Given the description of an element on the screen output the (x, y) to click on. 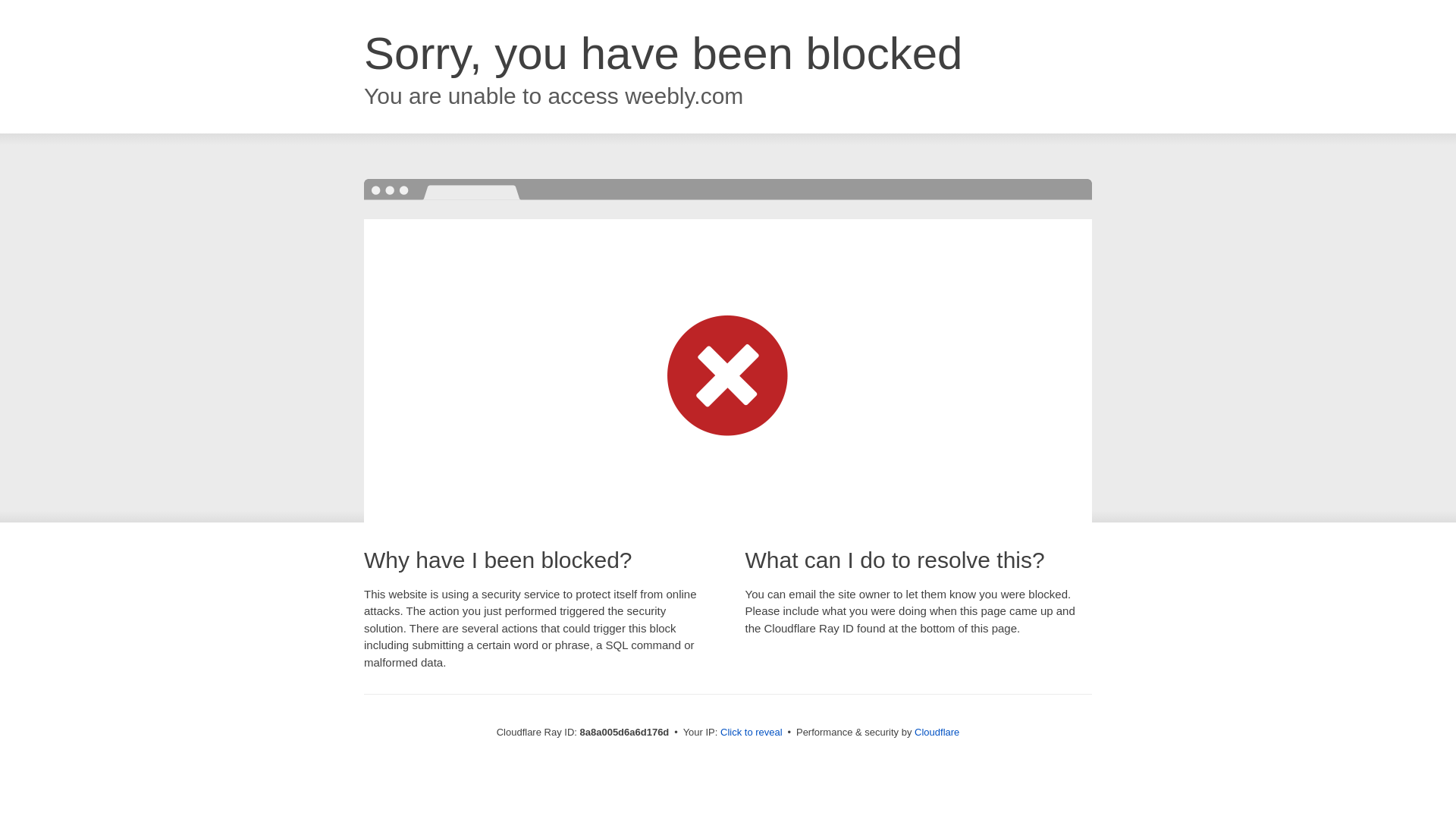
Cloudflare (936, 731)
Click to reveal (751, 732)
